Given the description of an element on the screen output the (x, y) to click on. 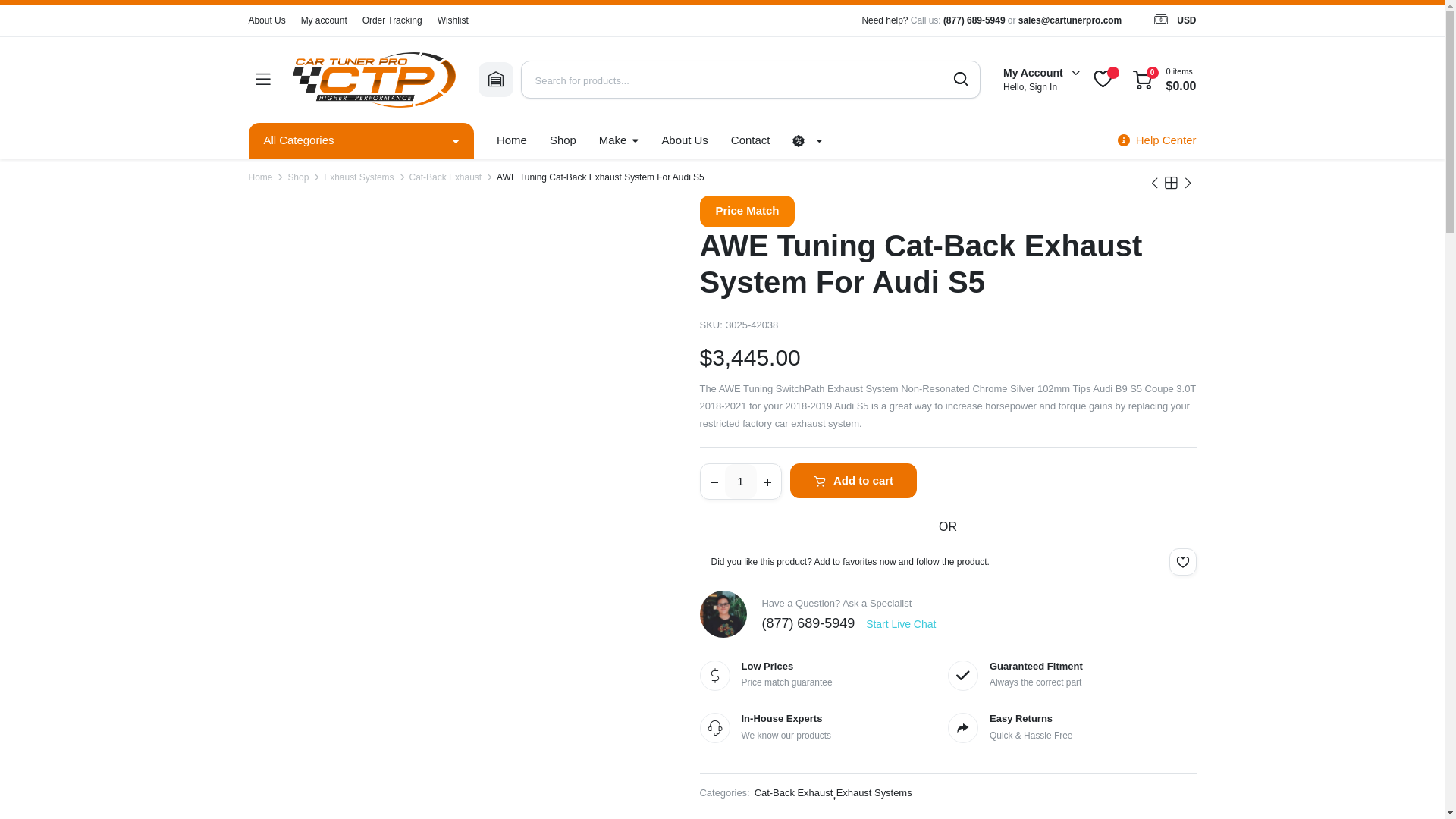
My account (324, 20)
Deals (563, 140)
All Categories (361, 140)
1 (741, 481)
Order Tracking (392, 20)
Make (619, 140)
Shop (563, 140)
Wishlist (453, 20)
USD (1174, 20)
Qty (741, 481)
